Given the description of an element on the screen output the (x, y) to click on. 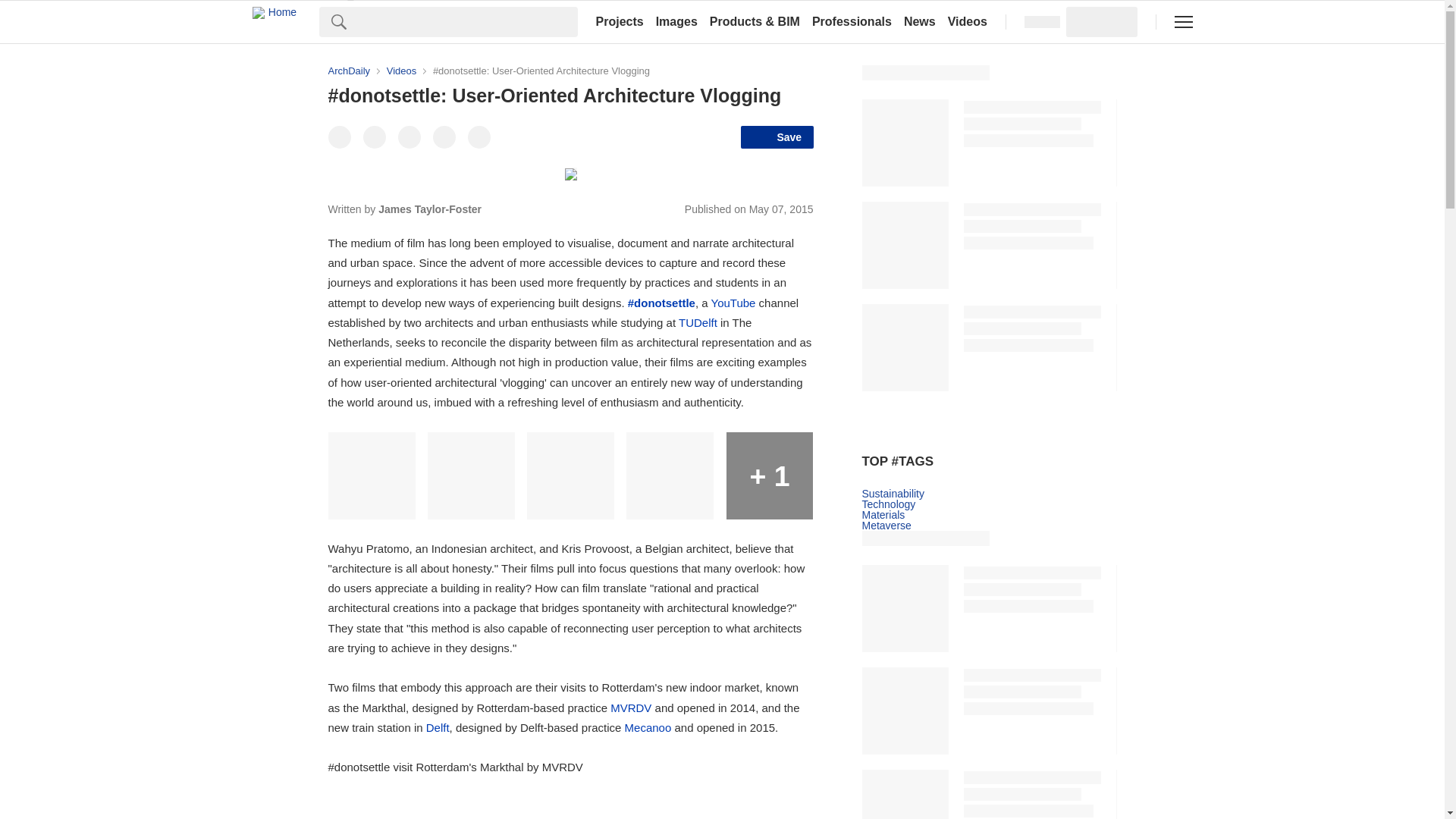
Videos (967, 21)
News (920, 21)
Professionals (852, 21)
Projects (619, 21)
Images (676, 21)
